Given the description of an element on the screen output the (x, y) to click on. 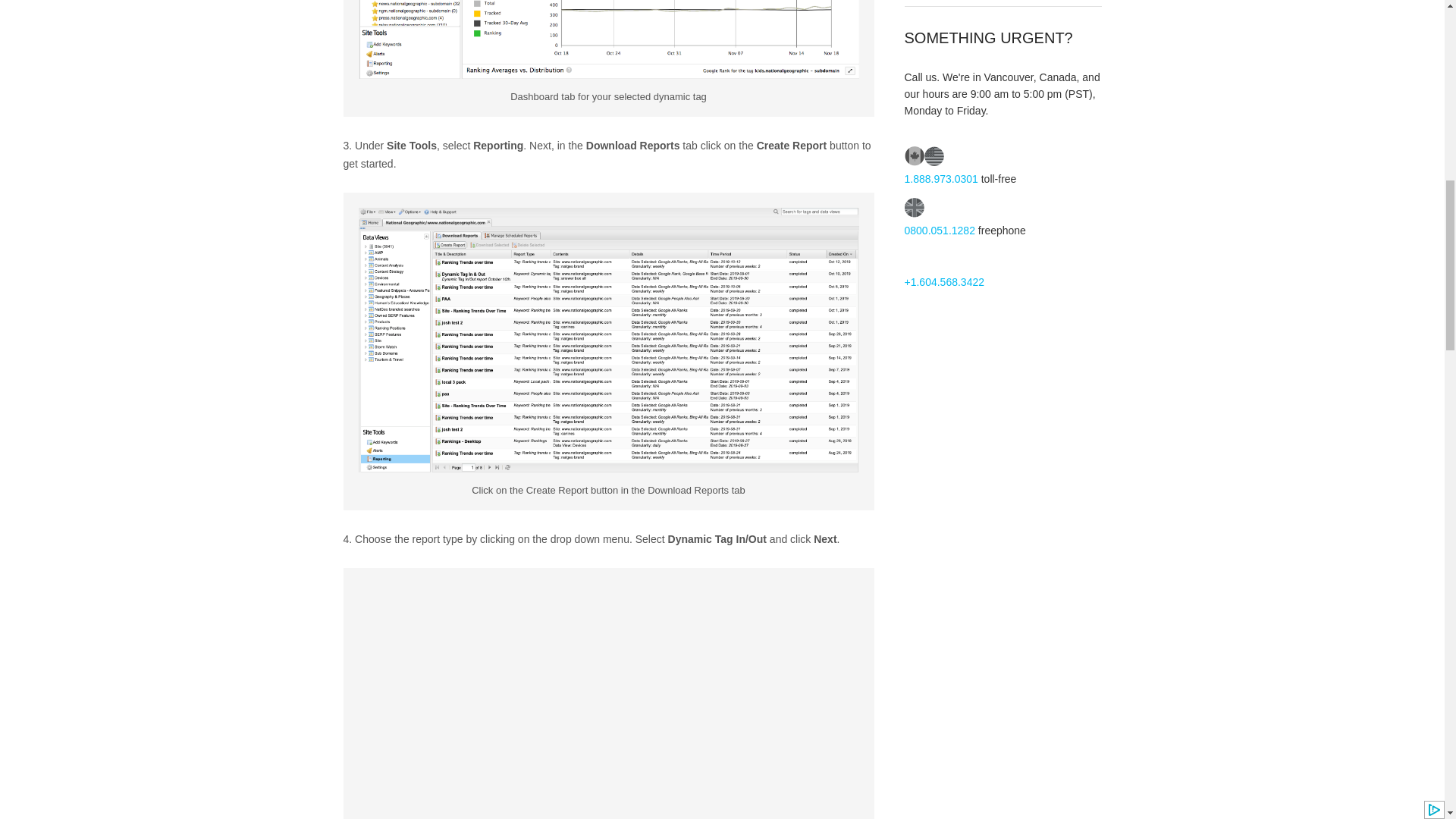
1.888.973.0301 (940, 178)
0800.051.1282 (939, 230)
